Given the description of an element on the screen output the (x, y) to click on. 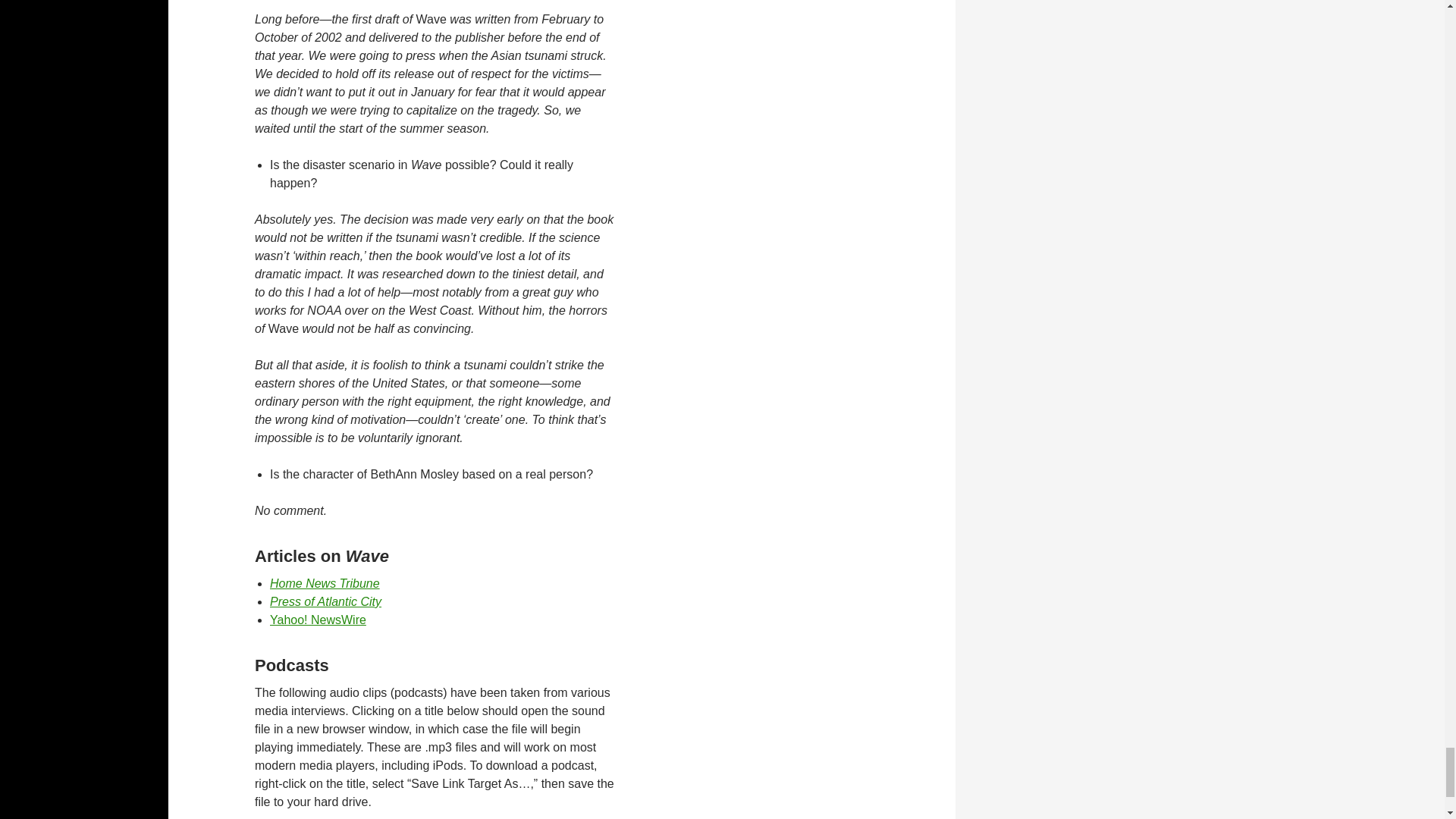
Yahoo! NewsWire (317, 619)
Home News Tribune (324, 583)
Press of Atlantic City (325, 601)
